Given the description of an element on the screen output the (x, y) to click on. 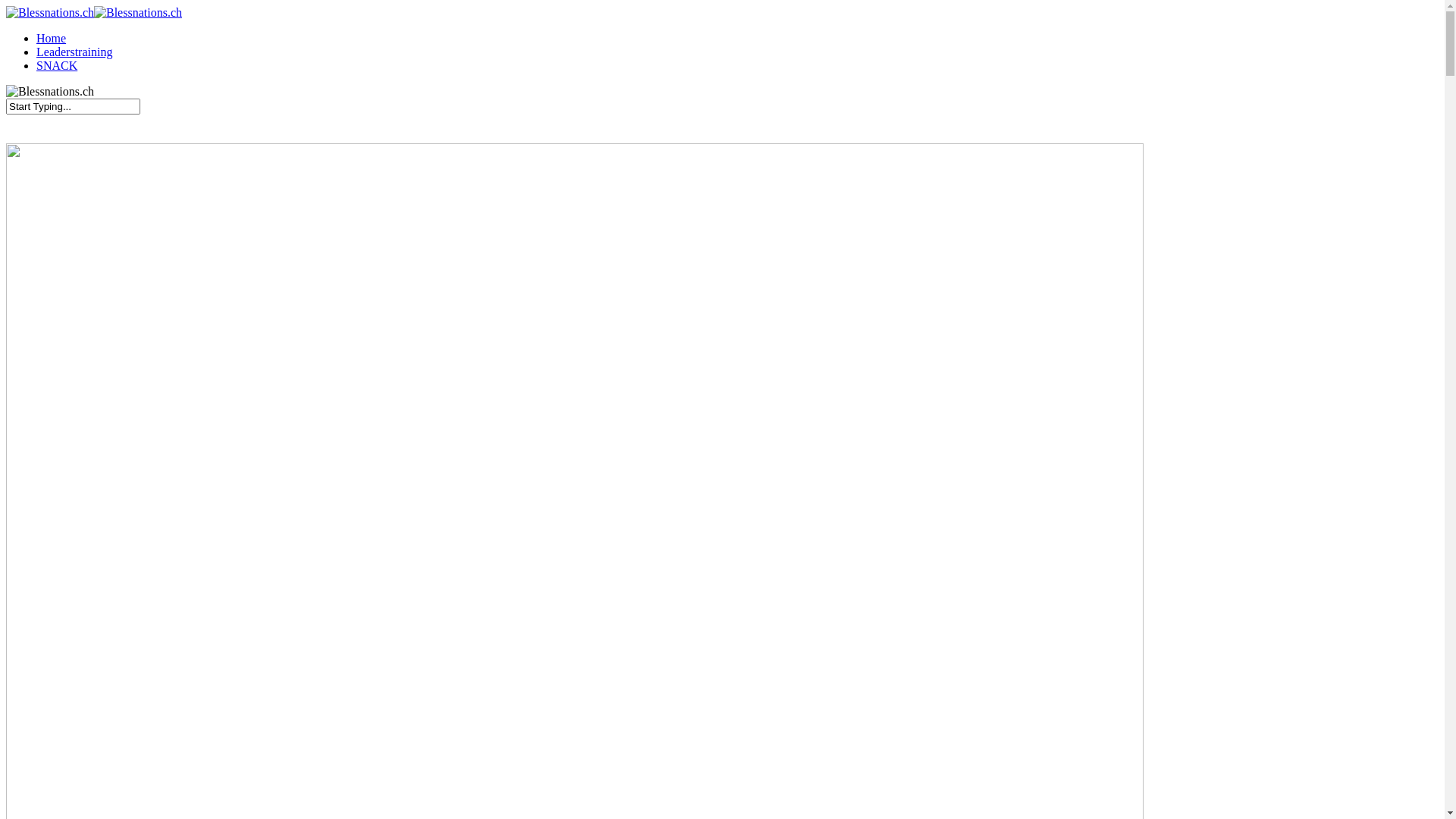
Home Element type: text (50, 37)
Leaderstraining Element type: text (74, 51)
Skip to main content Element type: text (5, 5)
SNACK Element type: text (56, 65)
